Given the description of an element on the screen output the (x, y) to click on. 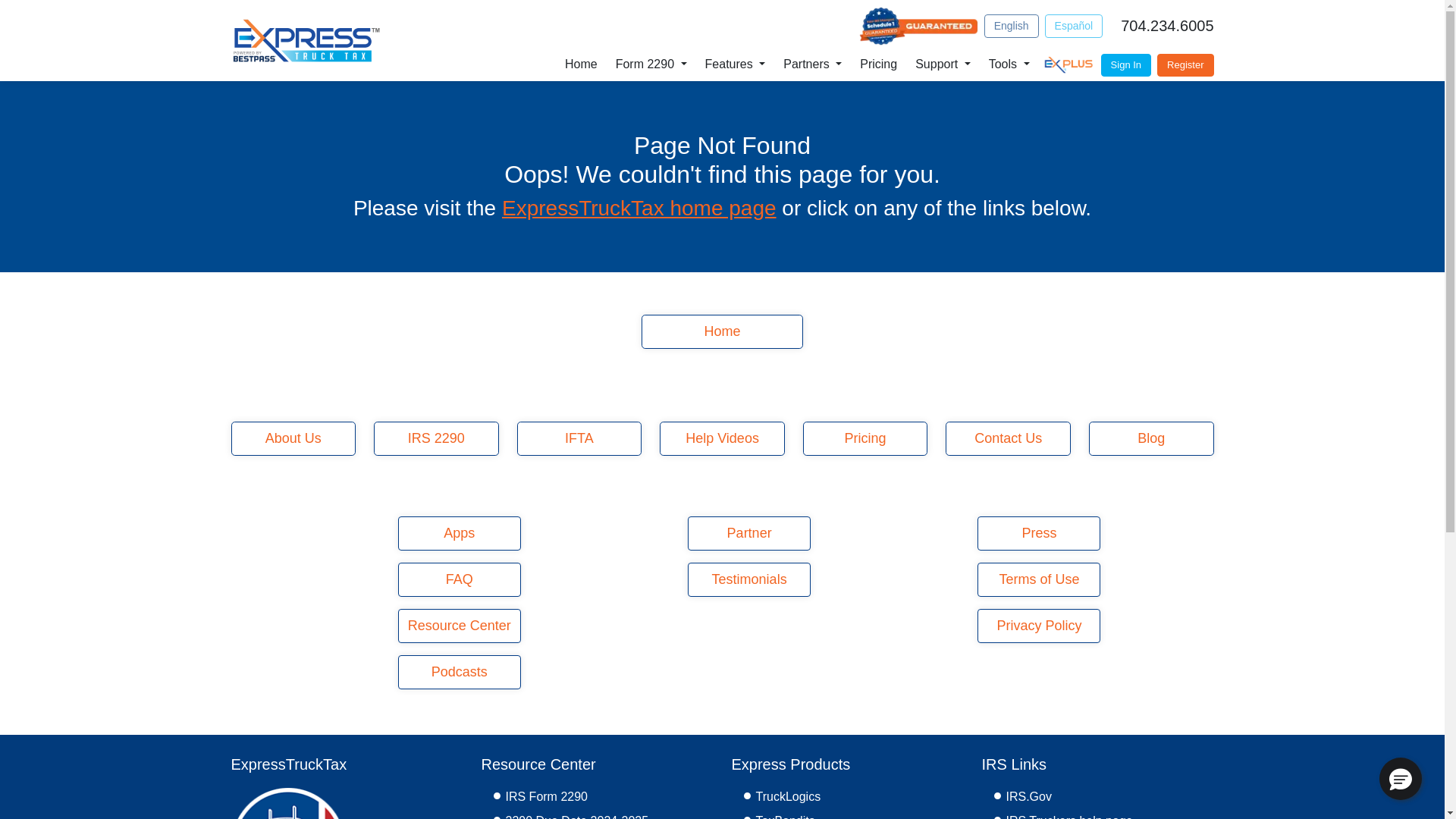
Partners (812, 65)
English (1011, 25)
Form 2290 (651, 65)
Features (734, 65)
Home (581, 65)
